Given the description of an element on the screen output the (x, y) to click on. 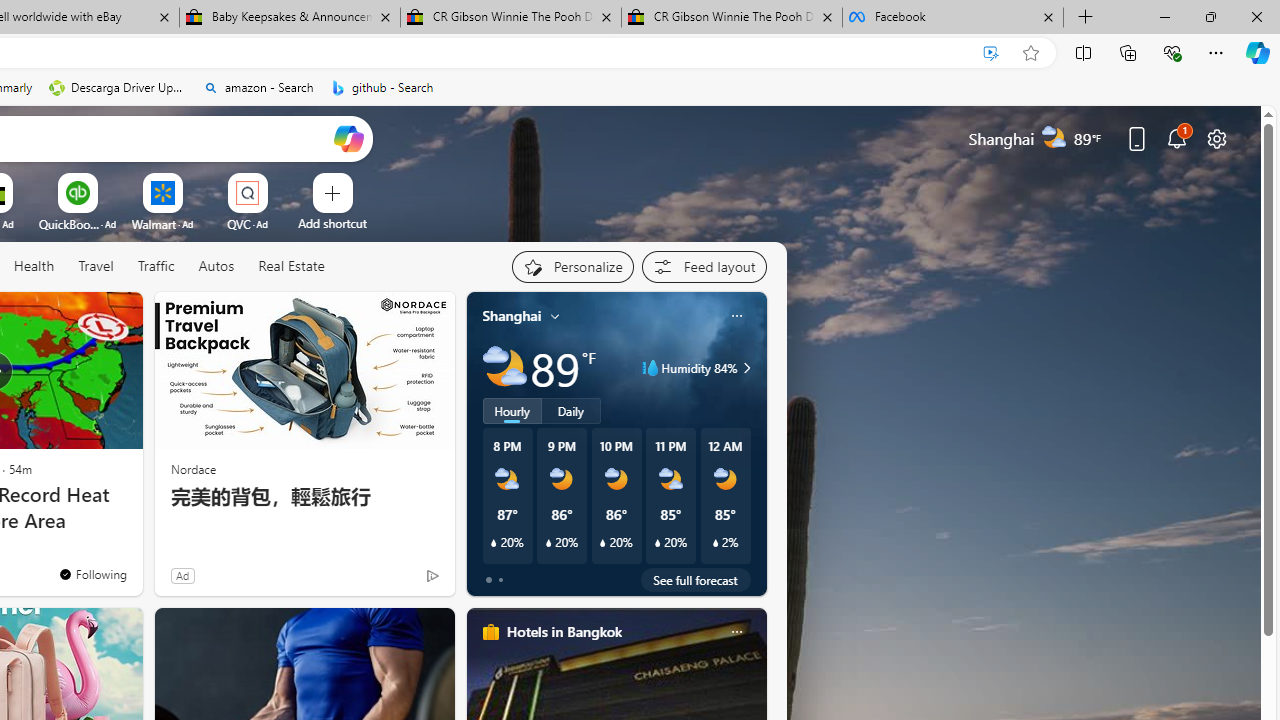
My location (555, 315)
Feed settings (703, 266)
Class: weather-arrow-glyph (746, 367)
Traffic (155, 265)
Baby Keepsakes & Announcements for sale | eBay (290, 17)
tab-1 (500, 579)
